Given the description of an element on the screen output the (x, y) to click on. 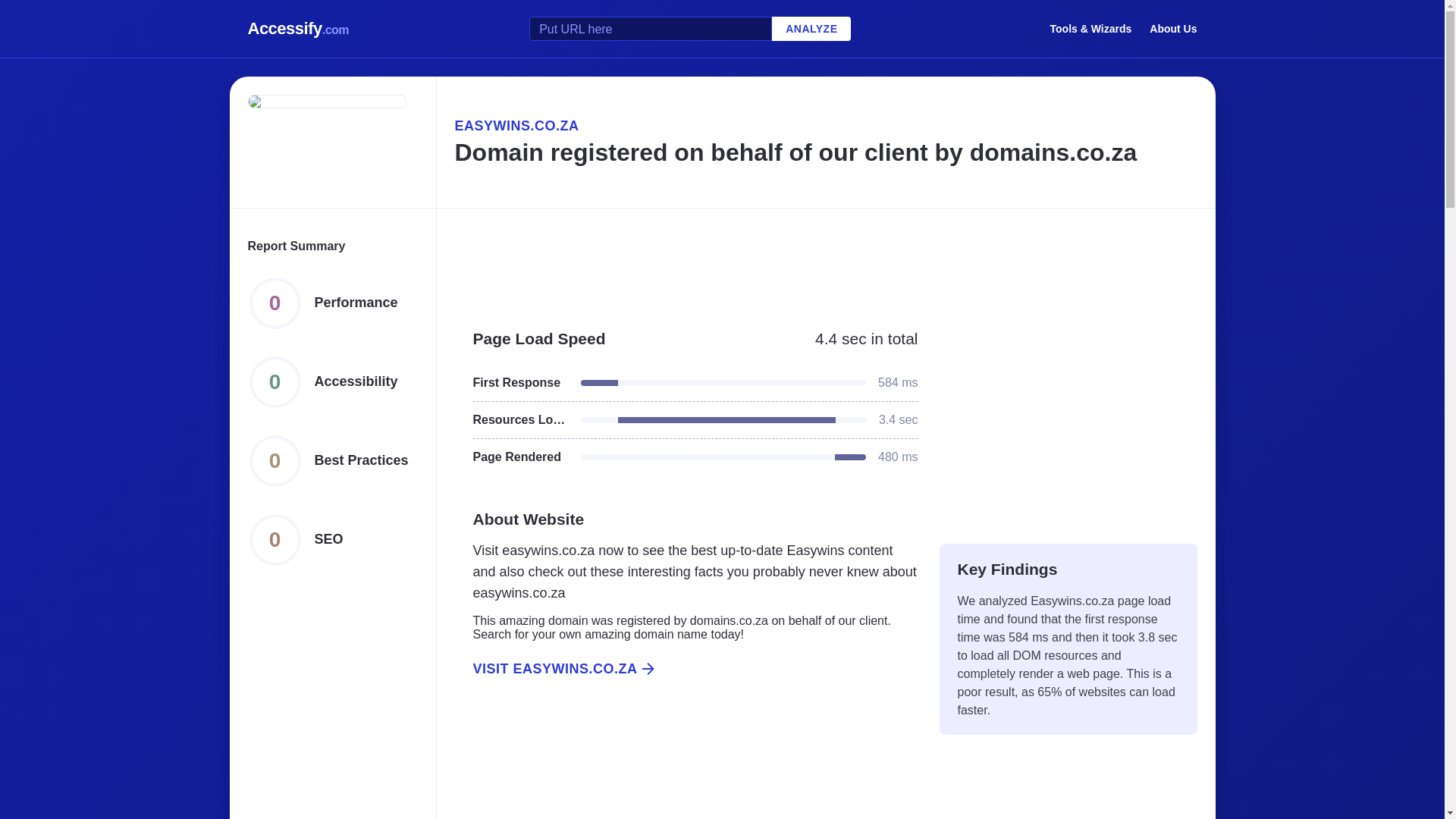
Accessify.com (298, 28)
EASYWINS.CO.ZA (825, 126)
ANALYZE (810, 28)
About Us (1173, 28)
VISIT EASYWINS.CO.ZA (686, 669)
